Given the description of an element on the screen output the (x, y) to click on. 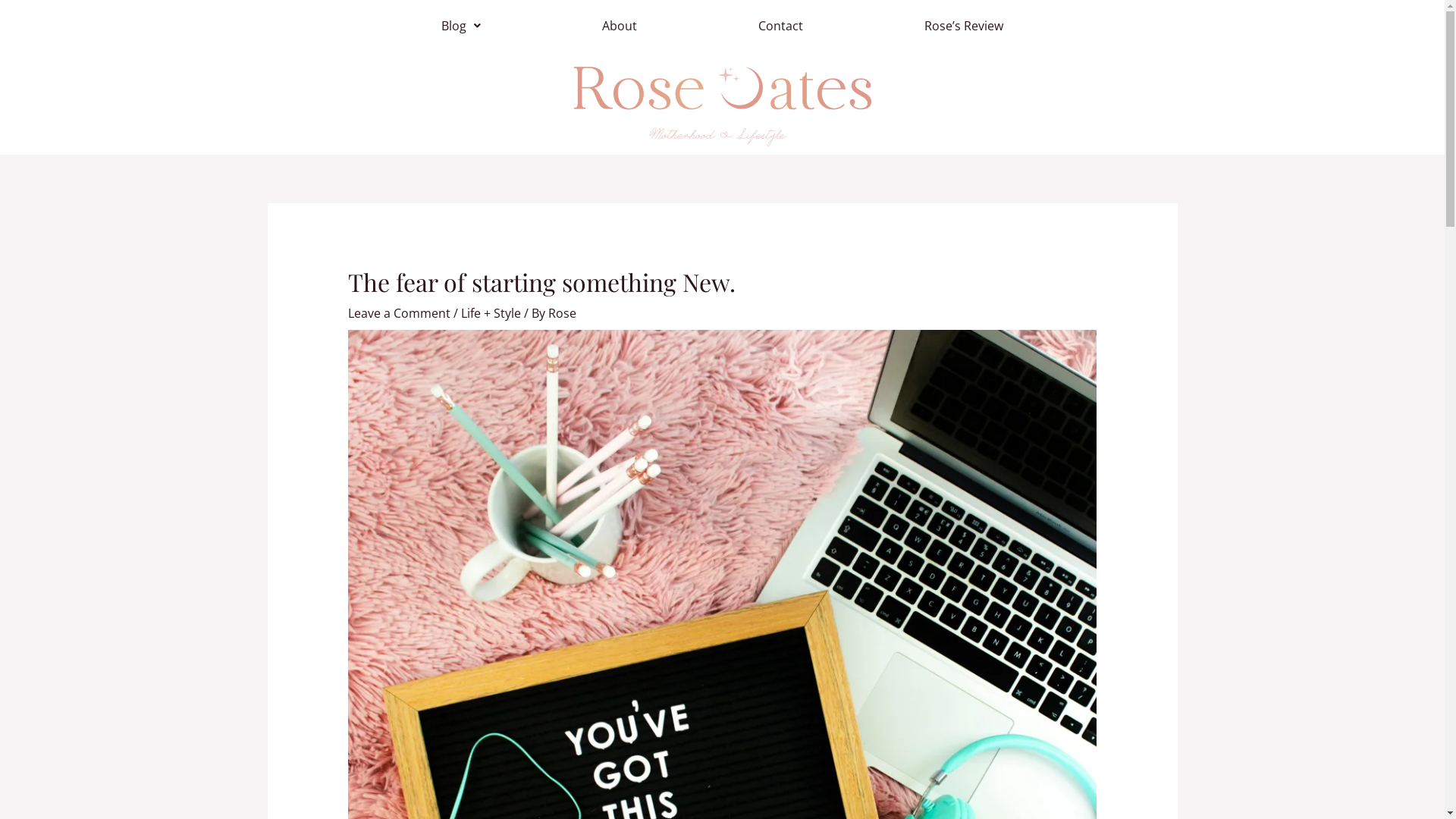
Rose Element type: text (562, 312)
Contact Element type: text (780, 25)
Life + Style Element type: text (490, 312)
About Element type: text (619, 25)
Blog Element type: text (460, 25)
Leave a Comment Element type: text (399, 312)
